Given the description of an element on the screen output the (x, y) to click on. 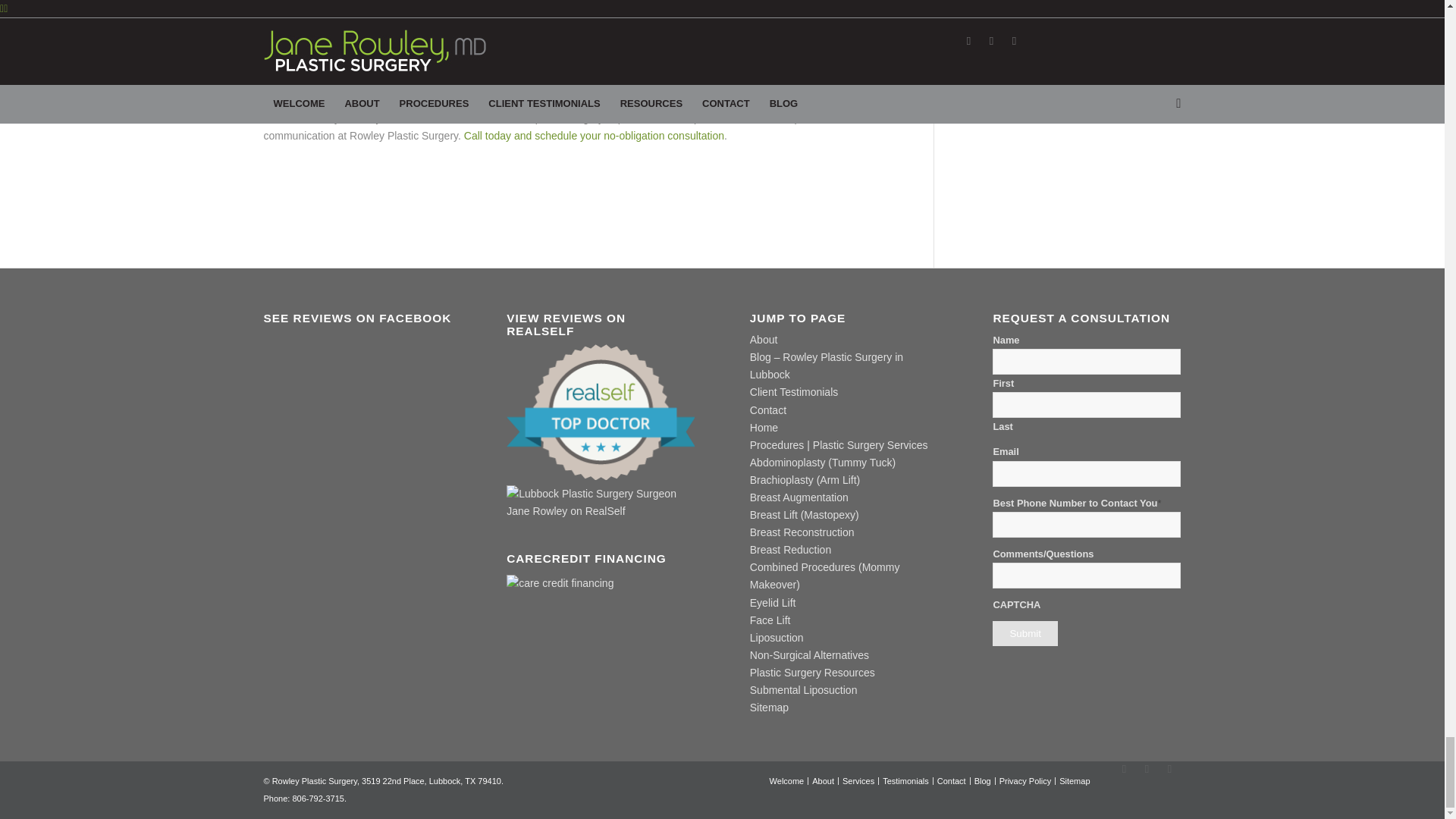
Facebook (1124, 768)
Submit (1024, 633)
Youtube (1169, 768)
Twitter (1146, 768)
